Given the description of an element on the screen output the (x, y) to click on. 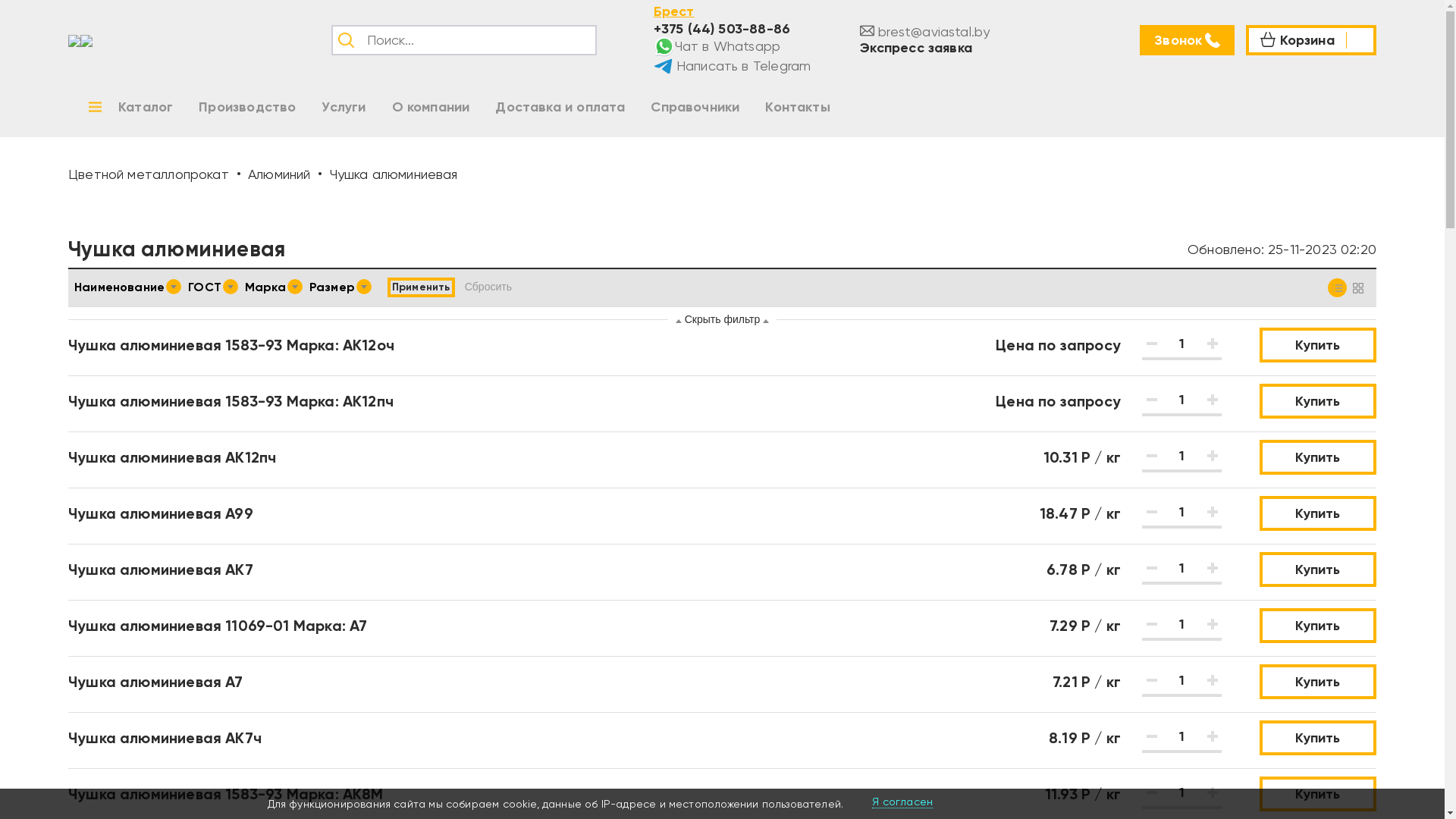
brest@aviastal.by Element type: text (924, 31)
+375 (44) 503-88-86 Element type: text (721, 27)
